Given the description of an element on the screen output the (x, y) to click on. 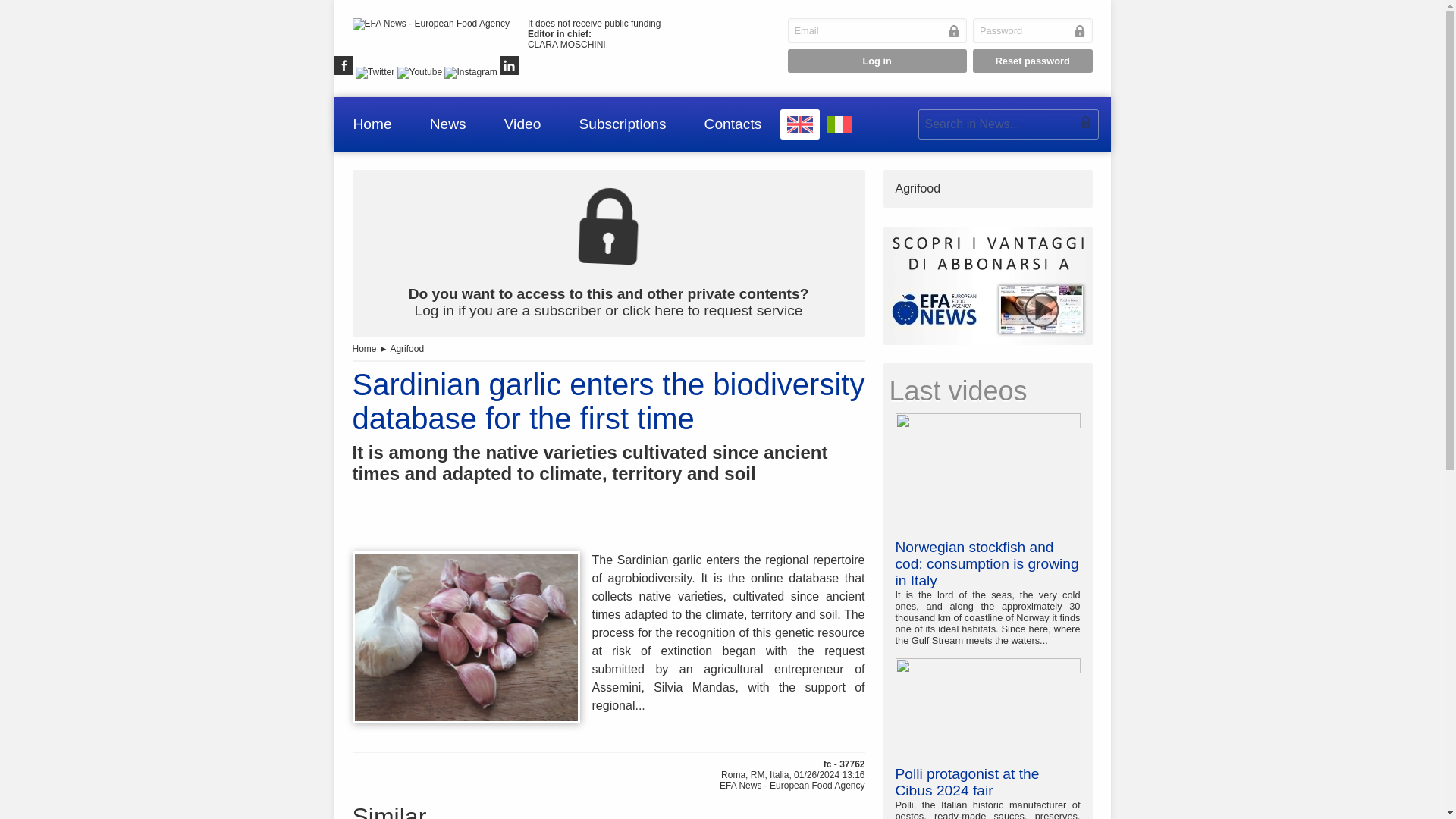
Italiano (839, 124)
Subscriptions (622, 123)
Visit our Youtube channel (419, 72)
Home (371, 123)
Visit our Twitter page (374, 72)
News (448, 123)
Log in (876, 60)
Reset password (1032, 60)
Contacts (732, 123)
Aglio sardo (466, 637)
